Given the description of an element on the screen output the (x, y) to click on. 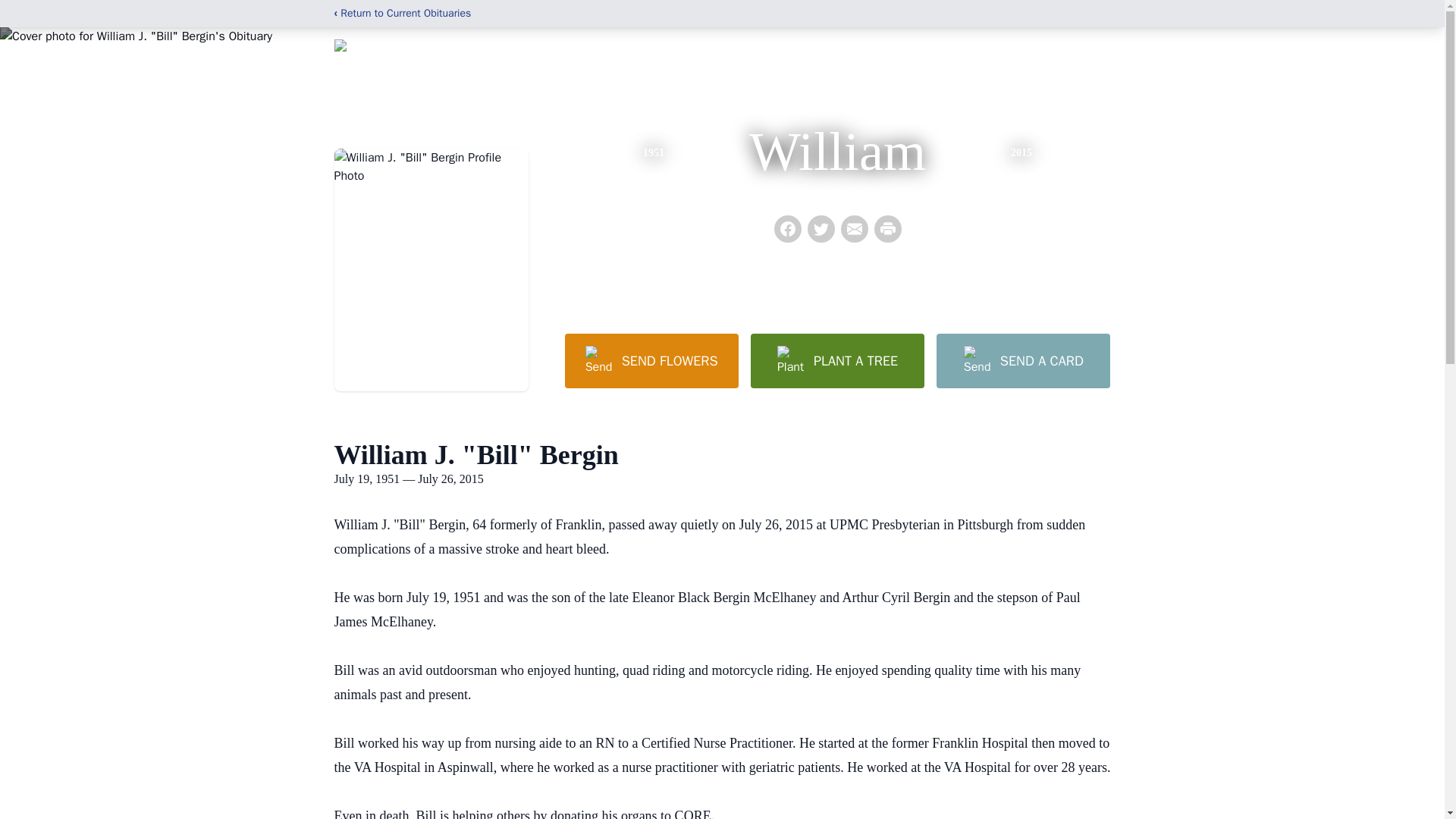
SEND FLOWERS (651, 360)
SEND A CARD (1022, 360)
PLANT A TREE (837, 360)
